Given the description of an element on the screen output the (x, y) to click on. 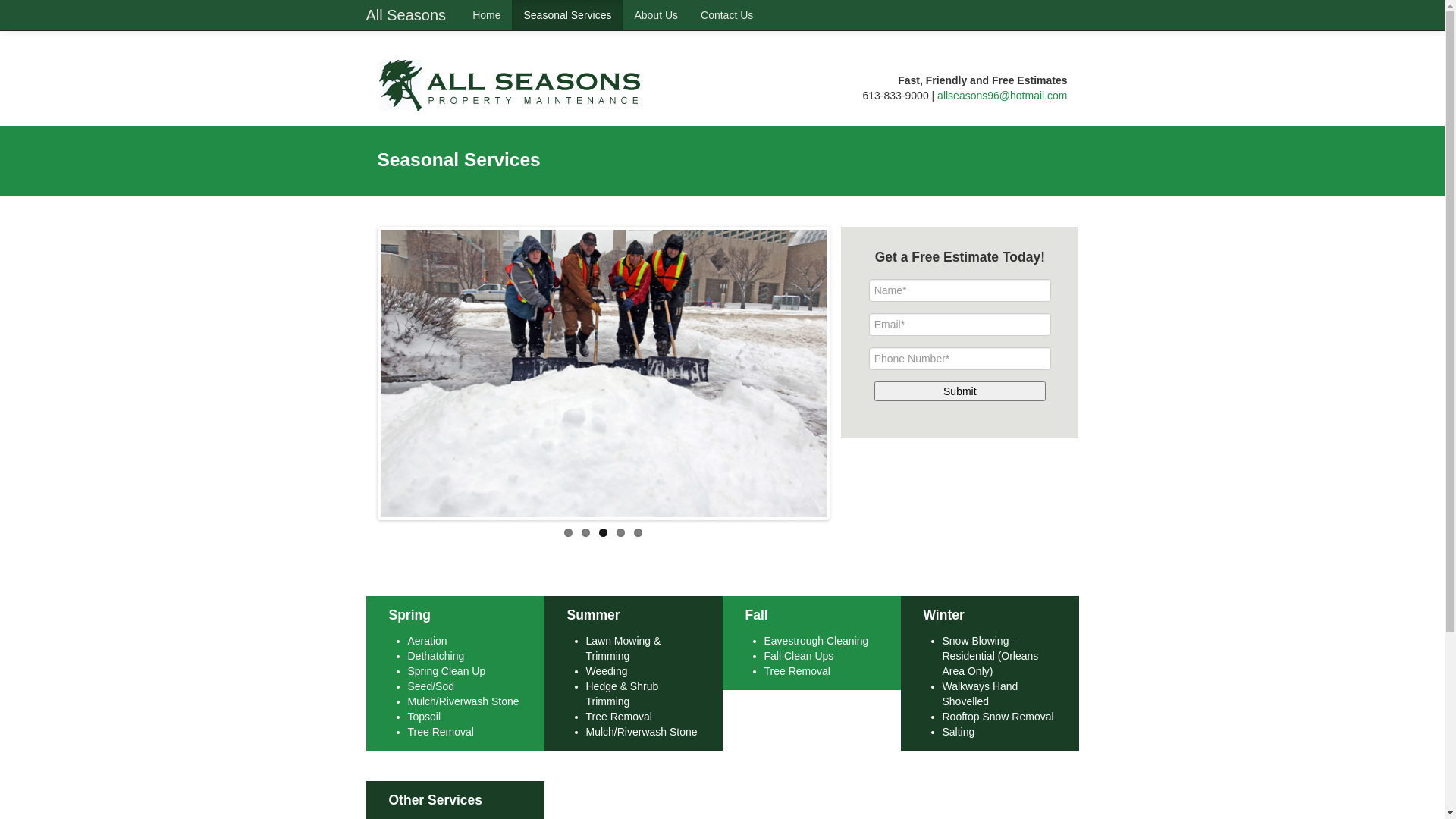
3 Element type: text (603, 532)
allseasons96@hotmail.com Element type: text (1001, 95)
1 Element type: text (568, 532)
Seasonal Services Element type: text (566, 15)
About Us Element type: text (655, 15)
All Seasons Element type: text (405, 15)
all-seasons-property-maintenance-logo Element type: hover (511, 85)
5 Element type: text (637, 532)
4 Element type: text (620, 532)
weather Element type: hover (602, 373)
2 Element type: text (585, 532)
Home Element type: text (486, 15)
Contact Us Element type: text (726, 15)
Submit Element type: text (959, 390)
all-seasons-maintenance-tree-removal Element type: hover (1049, 396)
